Given the description of an element on the screen output the (x, y) to click on. 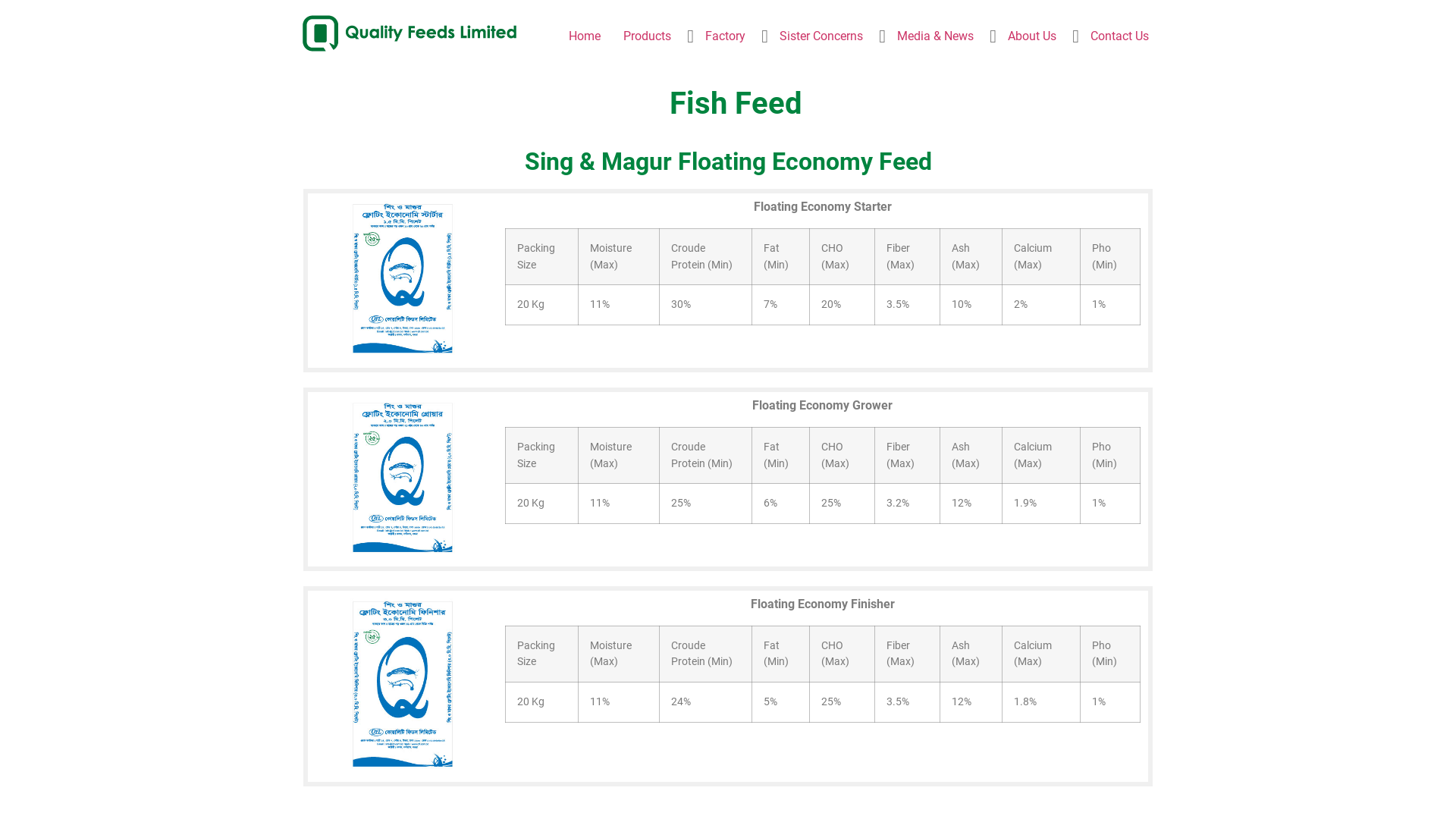
About Us Element type: text (1031, 36)
Factory Element type: text (724, 36)
Media & News Element type: text (935, 36)
Products Element type: text (646, 36)
Home Element type: text (584, 36)
Contact Us Element type: text (1119, 36)
Sister Concerns Element type: text (821, 36)
